Given the description of an element on the screen output the (x, y) to click on. 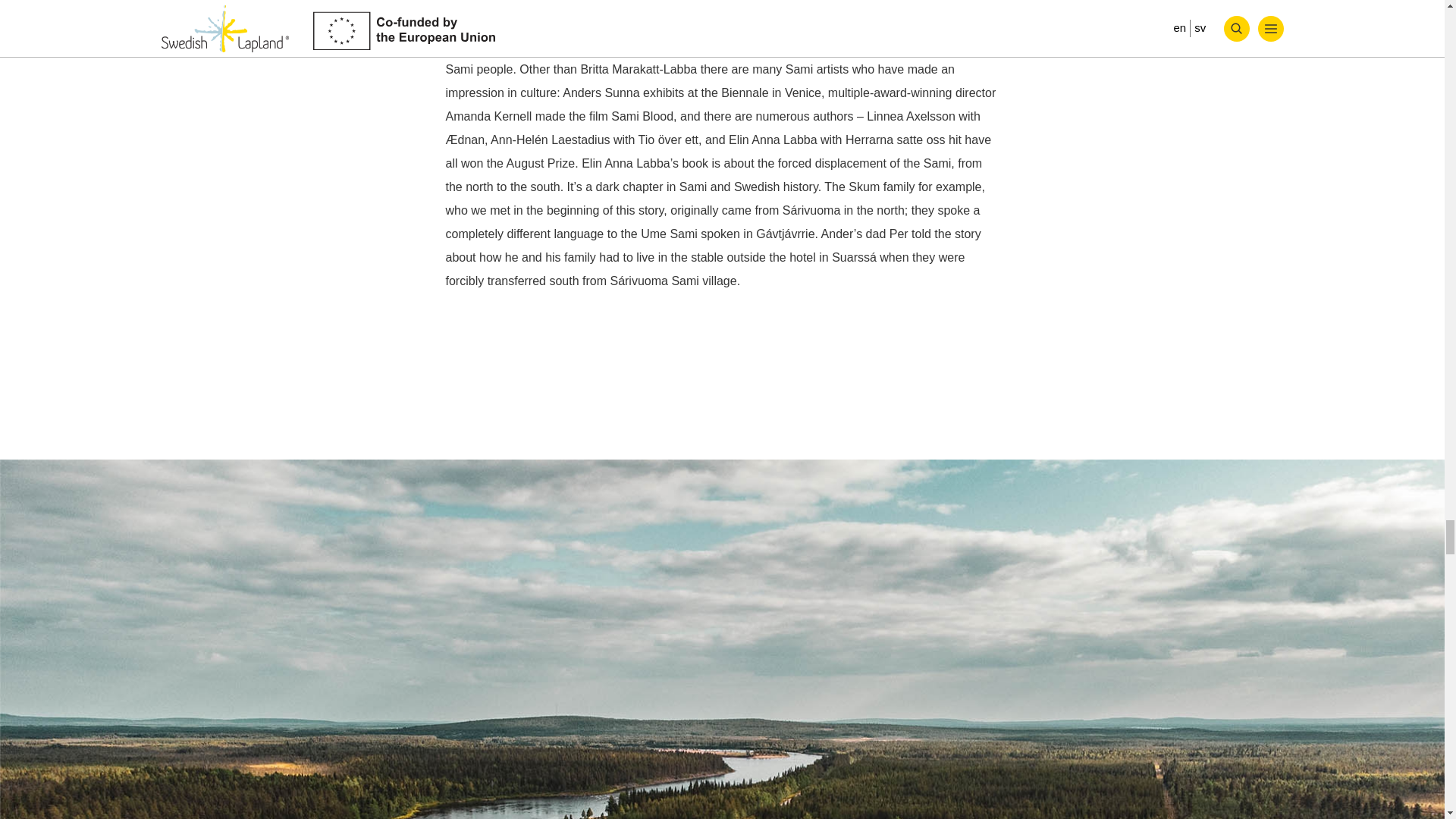
View full-screen (1410, 417)
